Given the description of an element on the screen output the (x, y) to click on. 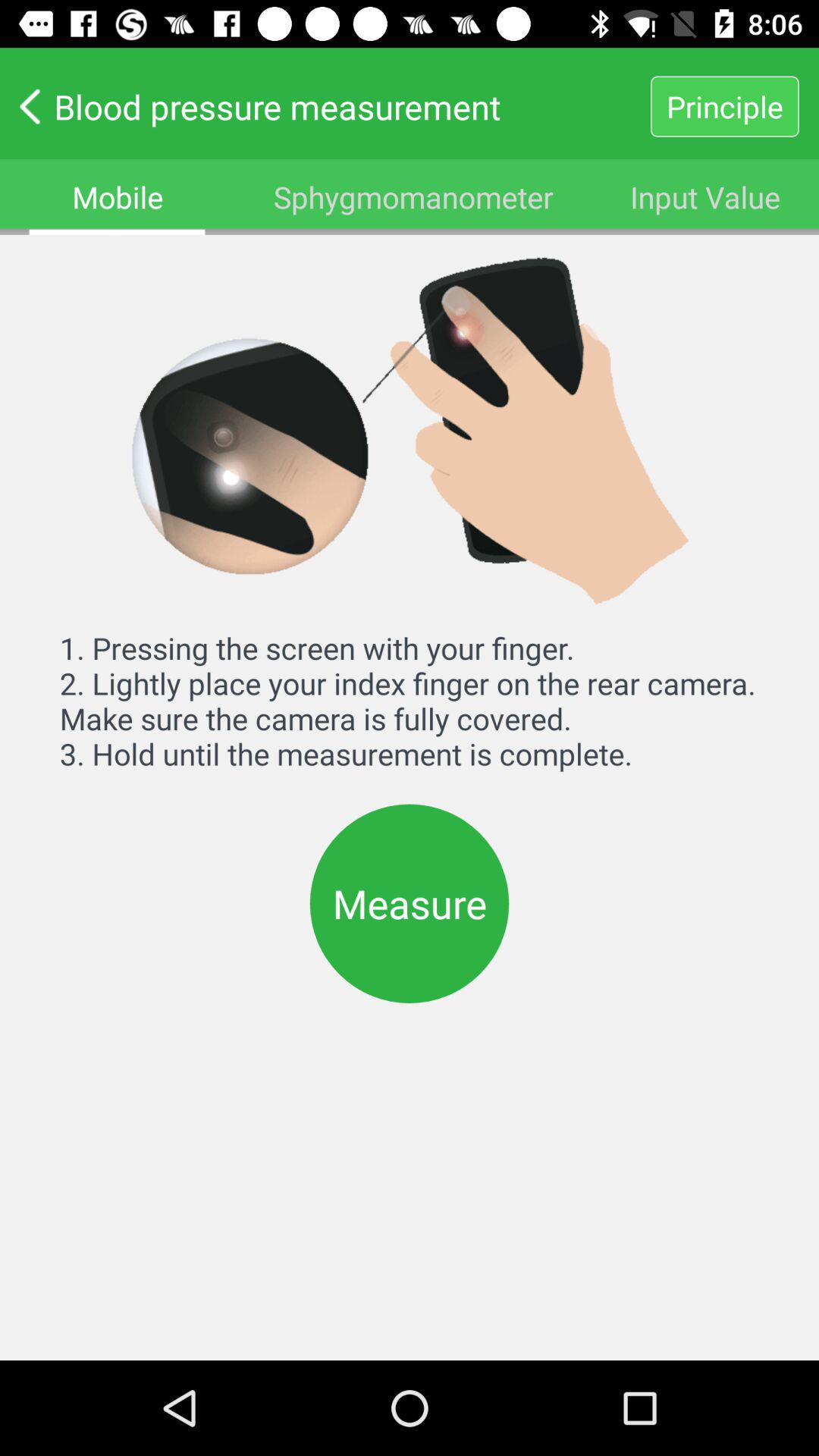
open the icon to the right of mobile item (413, 196)
